Given the description of an element on the screen output the (x, y) to click on. 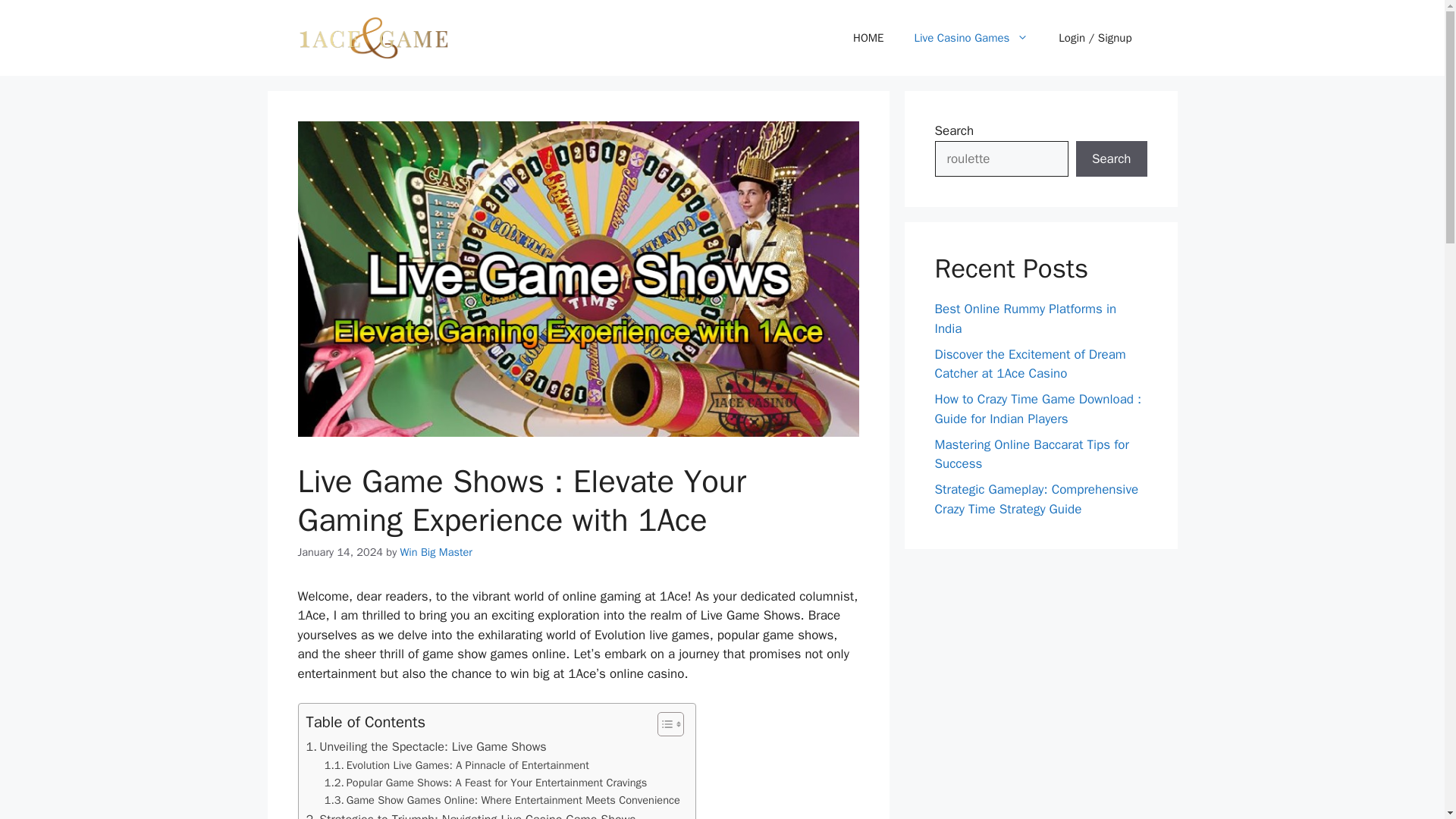
Live Casino Games (970, 37)
Mastering Online Baccarat Tips for Success (1031, 454)
View all posts by Win Big Master (435, 551)
Unveiling the Spectacle: Live Game Shows (426, 746)
Search (1111, 158)
Evolution Live Games: A Pinnacle of Entertainment (456, 764)
Unveiling the Spectacle: Live Game Shows (426, 746)
Win Big Master (435, 551)
Strategic Gameplay: Comprehensive Crazy Time Strategy Guide (1036, 498)
Best Online Rummy Platforms in India (1025, 318)
Strategies to Triumph: Navigating Live Casino Game Shows (470, 814)
Popular Game Shows: A Feast for Your Entertainment Cravings (485, 782)
Strategies to Triumph: Navigating Live Casino Game Shows (470, 814)
